Given the description of an element on the screen output the (x, y) to click on. 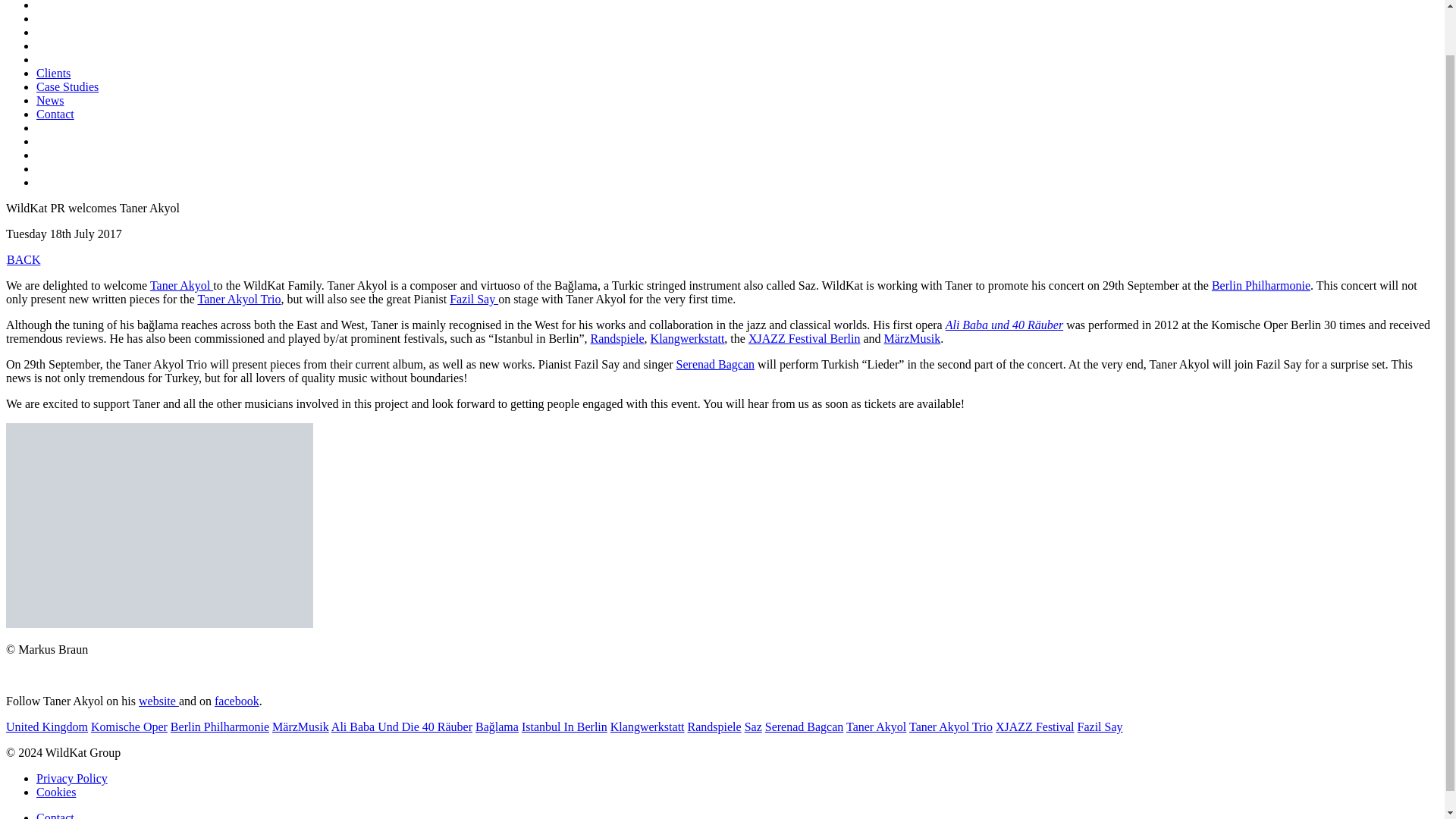
Istanbul In Berlin (564, 726)
Klangwerkstatt (647, 726)
Randspiele (714, 726)
United Kingdom (46, 726)
website (158, 700)
Taner Akyol Trio (239, 298)
Klangwerkstatt (687, 338)
Case Studies (67, 86)
Contact (55, 113)
Fazil Say (473, 298)
